Given the description of an element on the screen output the (x, y) to click on. 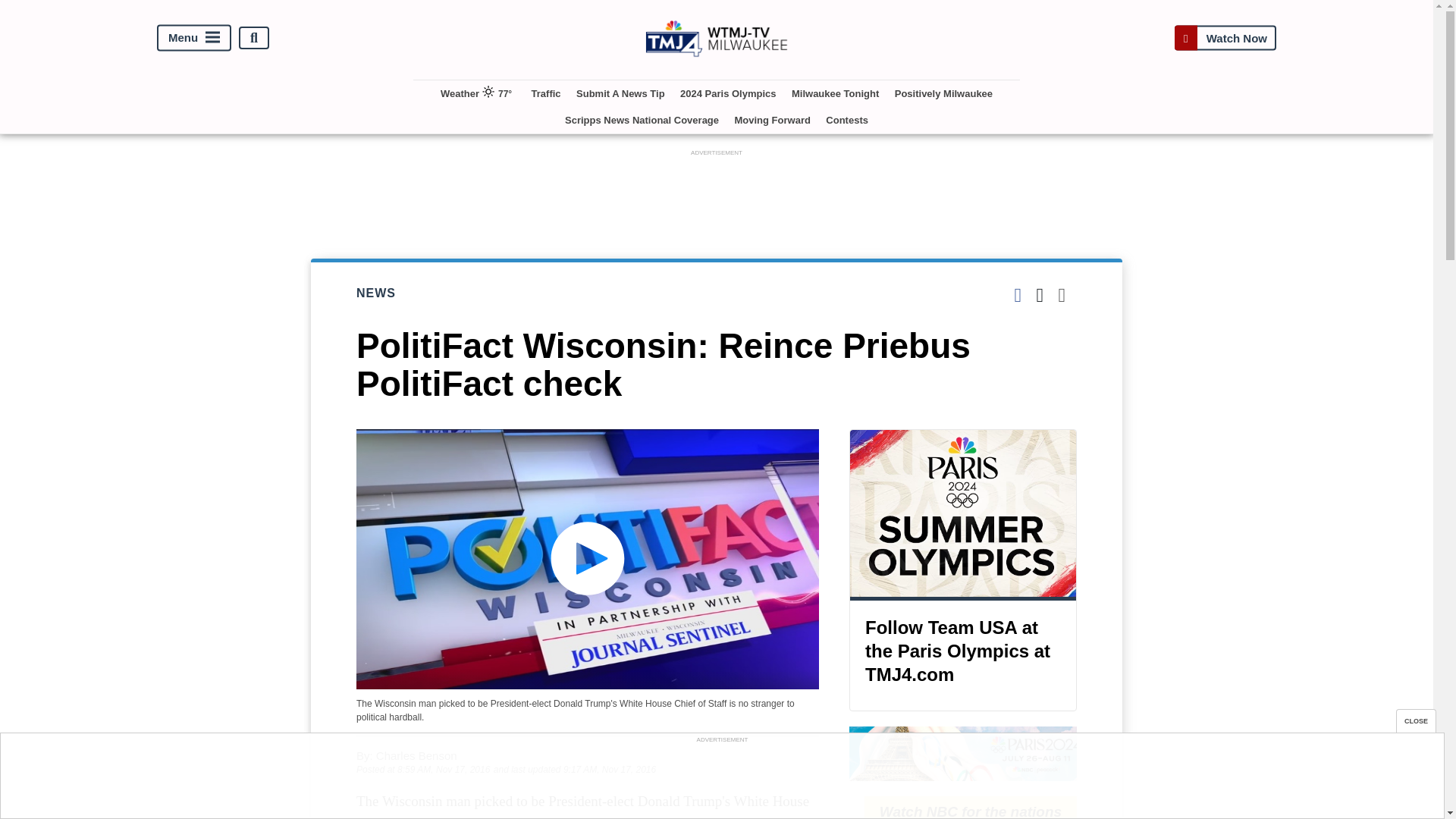
Watch Now (1224, 38)
3rd party ad content (716, 193)
3rd party ad content (721, 780)
Menu (194, 38)
